Given the description of an element on the screen output the (x, y) to click on. 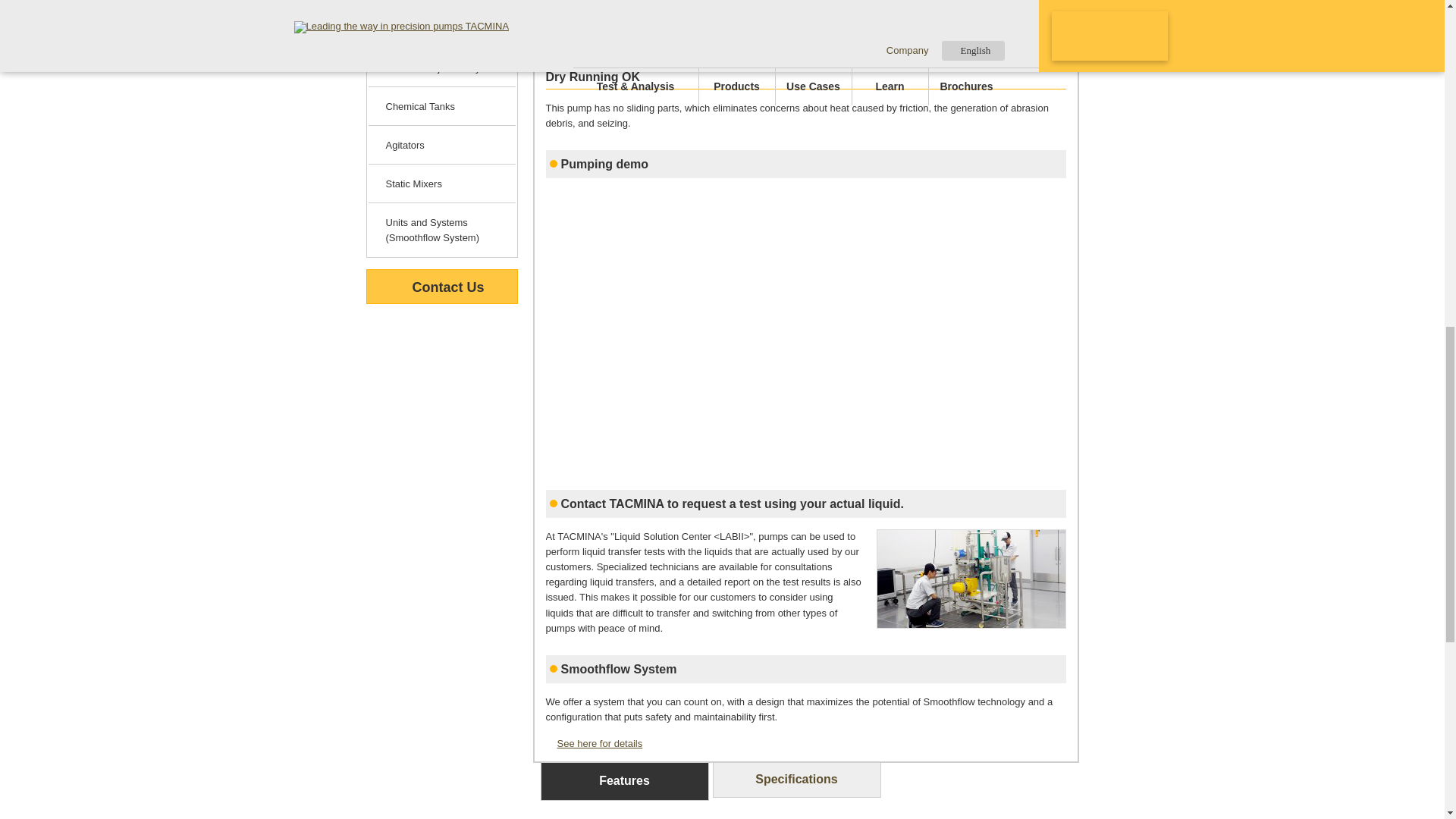
Features (623, 781)
Specifications (796, 779)
See here for details (594, 743)
